Given the description of an element on the screen output the (x, y) to click on. 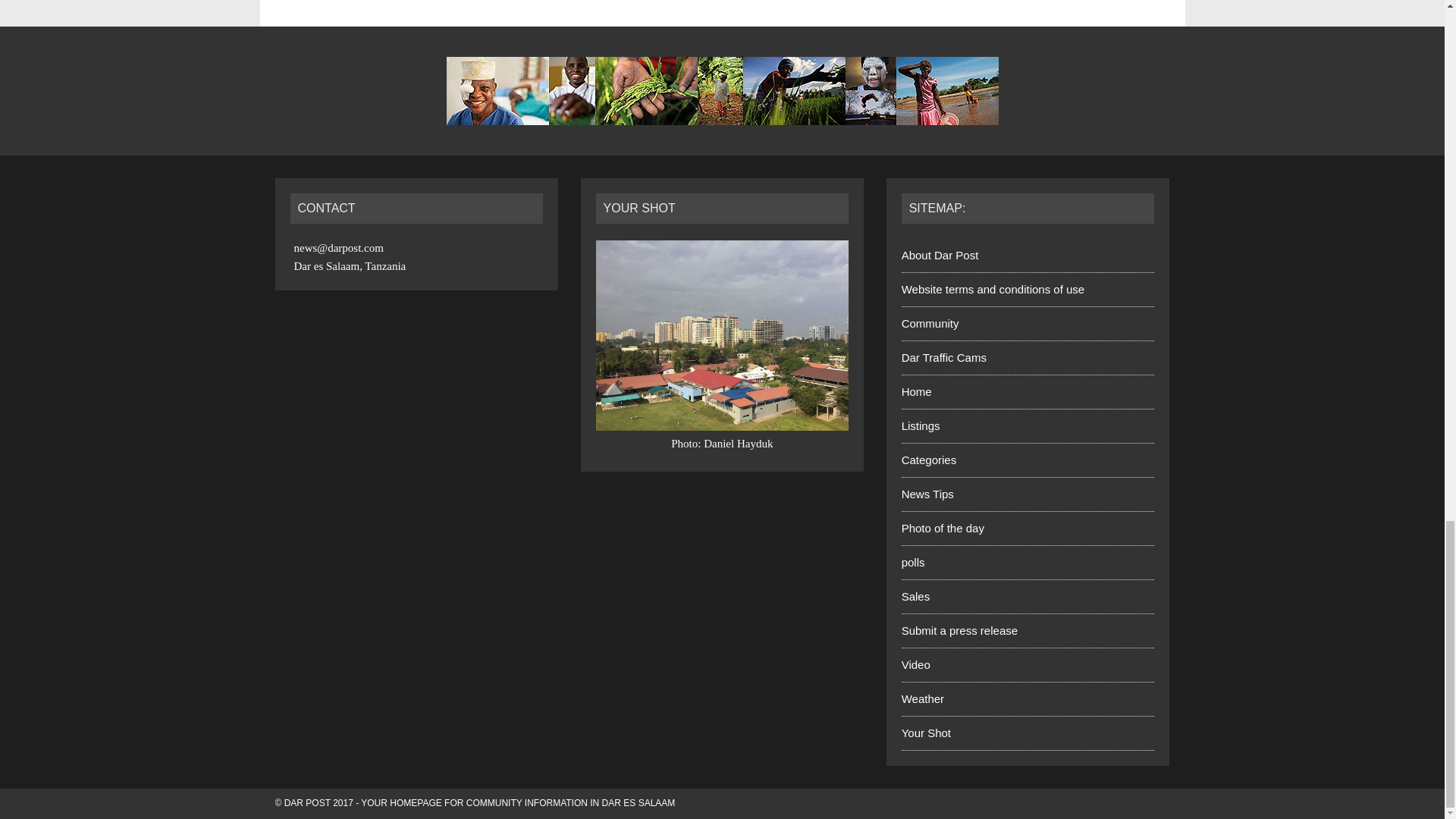
International School of Tanganyika (721, 334)
